Given the description of an element on the screen output the (x, y) to click on. 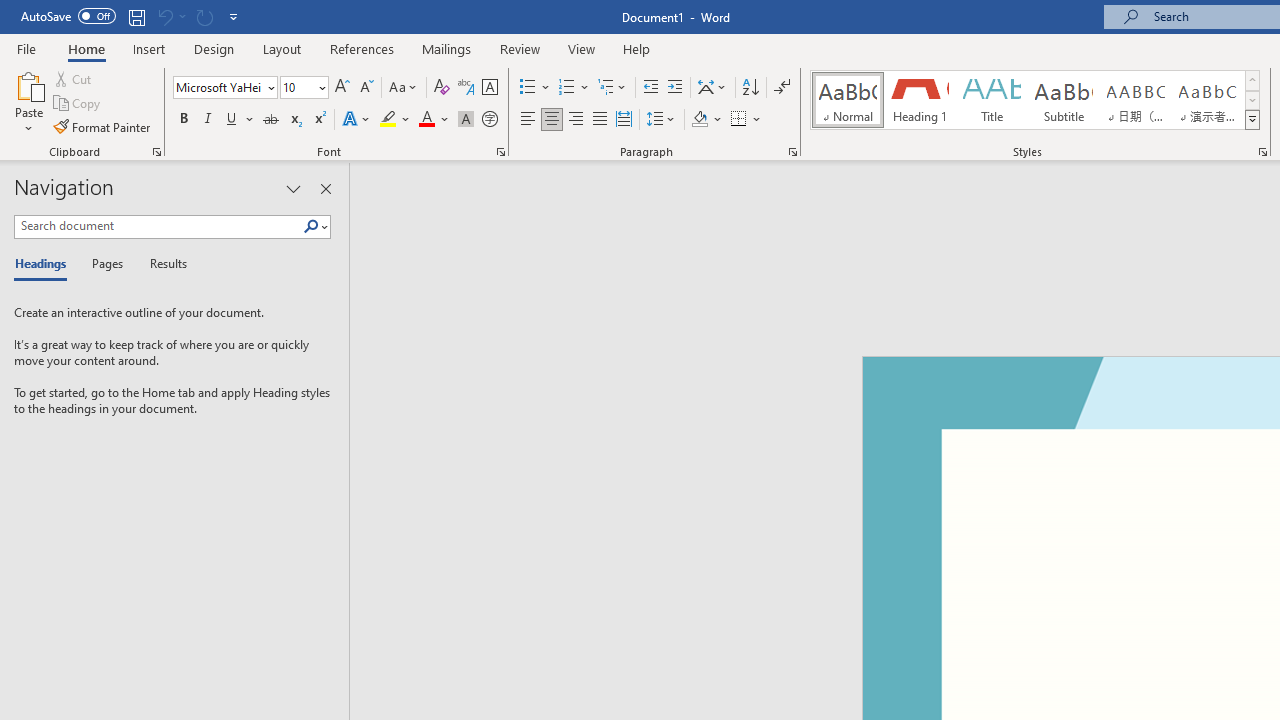
Task Pane Options (293, 188)
Increase Indent (675, 87)
Pages (105, 264)
Justify (599, 119)
Cut (73, 78)
AutomationID: QuickStylesGallery (1035, 99)
Character Shading (465, 119)
Design (214, 48)
Shading RGB(0, 0, 0) (699, 119)
Decrease Indent (650, 87)
Bold (183, 119)
